Given the description of an element on the screen output the (x, y) to click on. 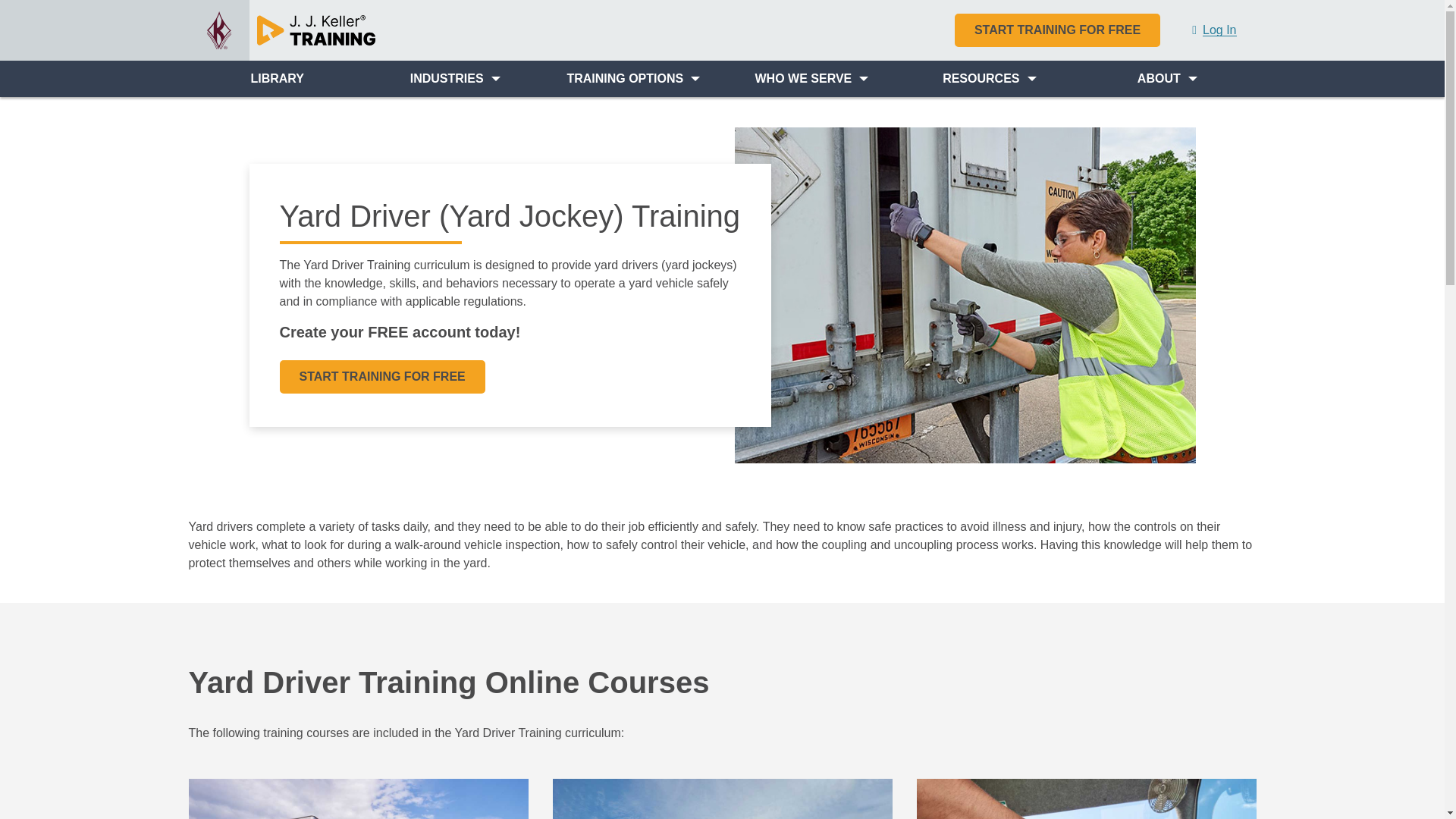
Log In (1213, 29)
LIBRARY (276, 78)
INDUSTRIES (454, 78)
Log In (1213, 29)
WHO WE SERVE (810, 78)
LIBRARY (276, 78)
RESOURCES (989, 78)
TRAINING OPTIONS (632, 78)
START TRAINING FOR FREE (1057, 29)
START TRAINING FOR FREE (1057, 29)
